Given the description of an element on the screen output the (x, y) to click on. 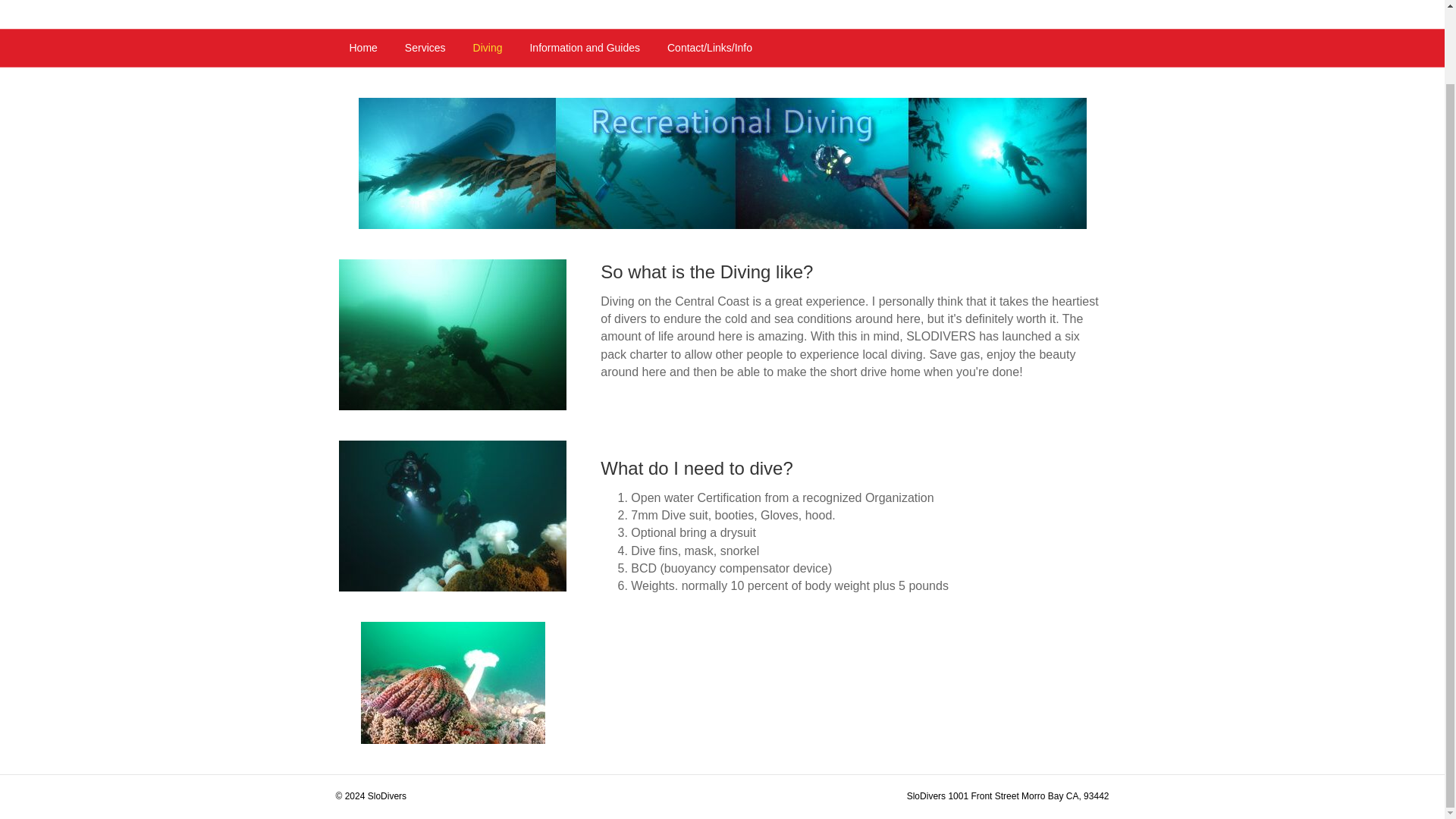
diving3 (452, 334)
diving1 (452, 682)
diving2 (452, 515)
